Given the description of an element on the screen output the (x, y) to click on. 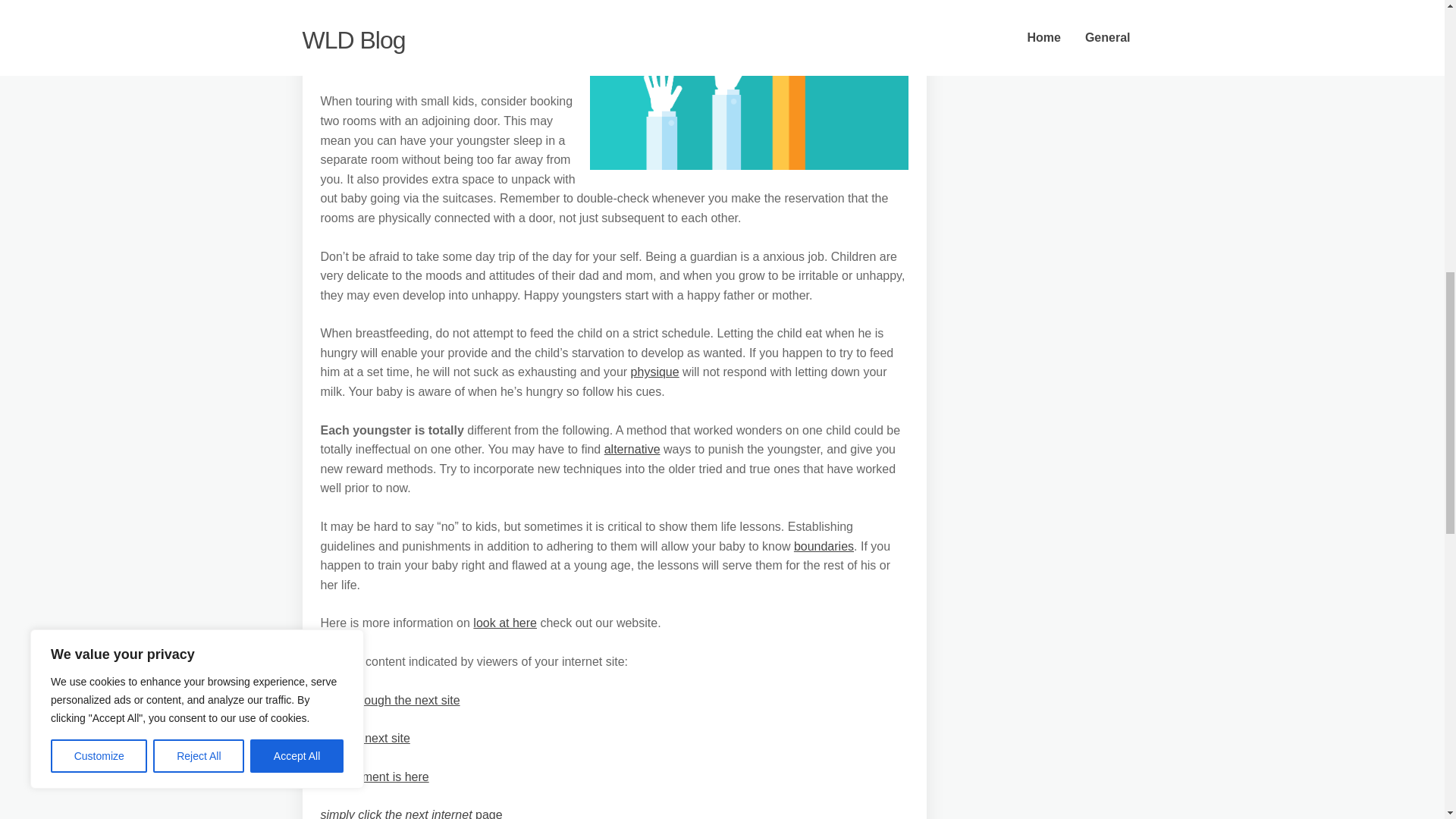
visit the next site (364, 738)
physique (654, 371)
simply click the next internet page (411, 813)
his comment is here (374, 776)
boundaries (823, 545)
alternative (632, 449)
Click through the next site (390, 699)
look at here (505, 622)
